Given the description of an element on the screen output the (x, y) to click on. 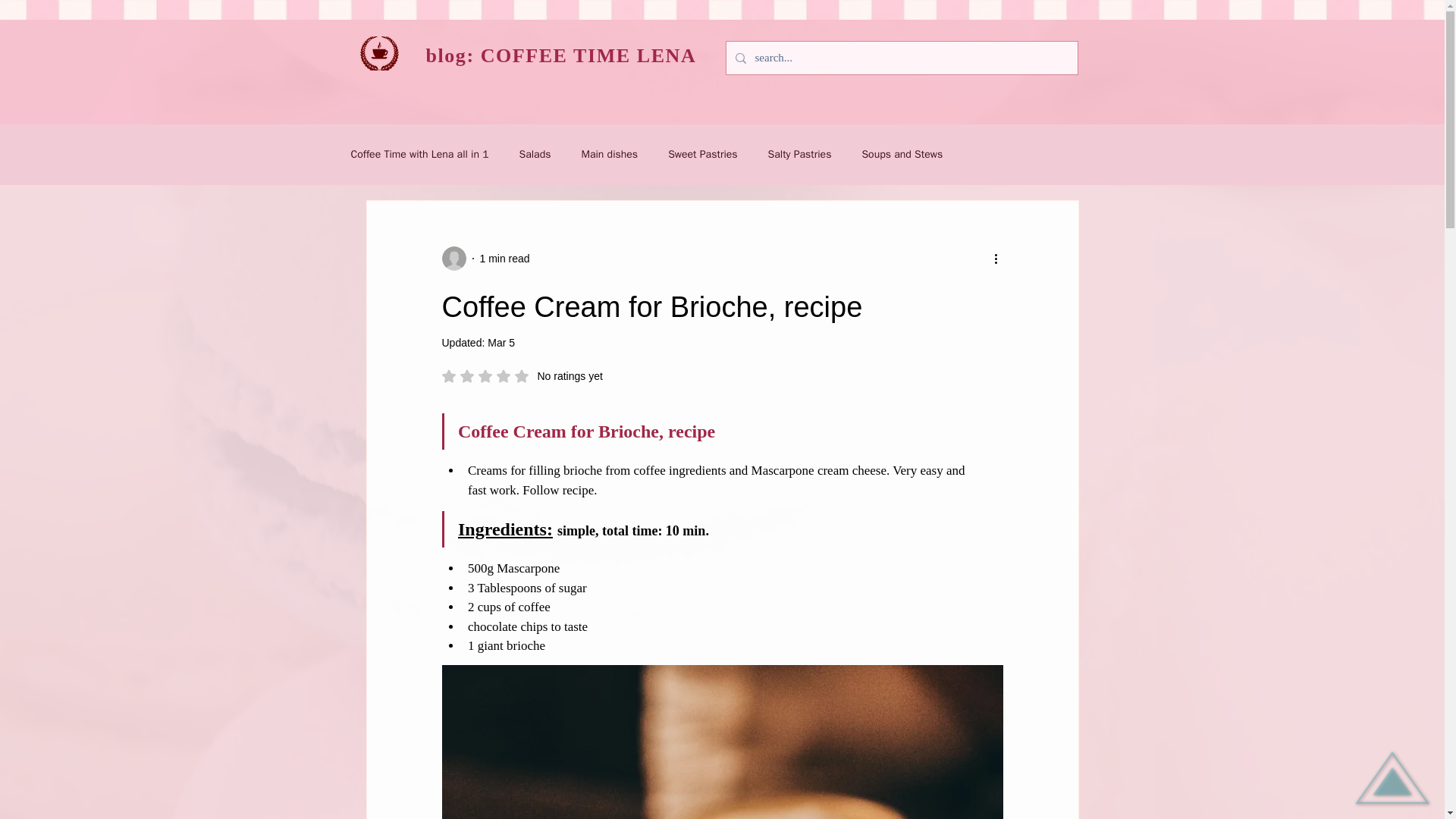
blog: COFFEE TIME LENA (561, 55)
Soups and Stews (901, 154)
Coffee Time with Lena all in 1 (418, 154)
Salty Pastries (799, 154)
1 min read (521, 376)
Mar 5 (504, 257)
Coffee cream for brioche (501, 342)
Sweet Pastries (722, 741)
Coffee Cream for Brioche, recipe (702, 154)
